Given the description of an element on the screen output the (x, y) to click on. 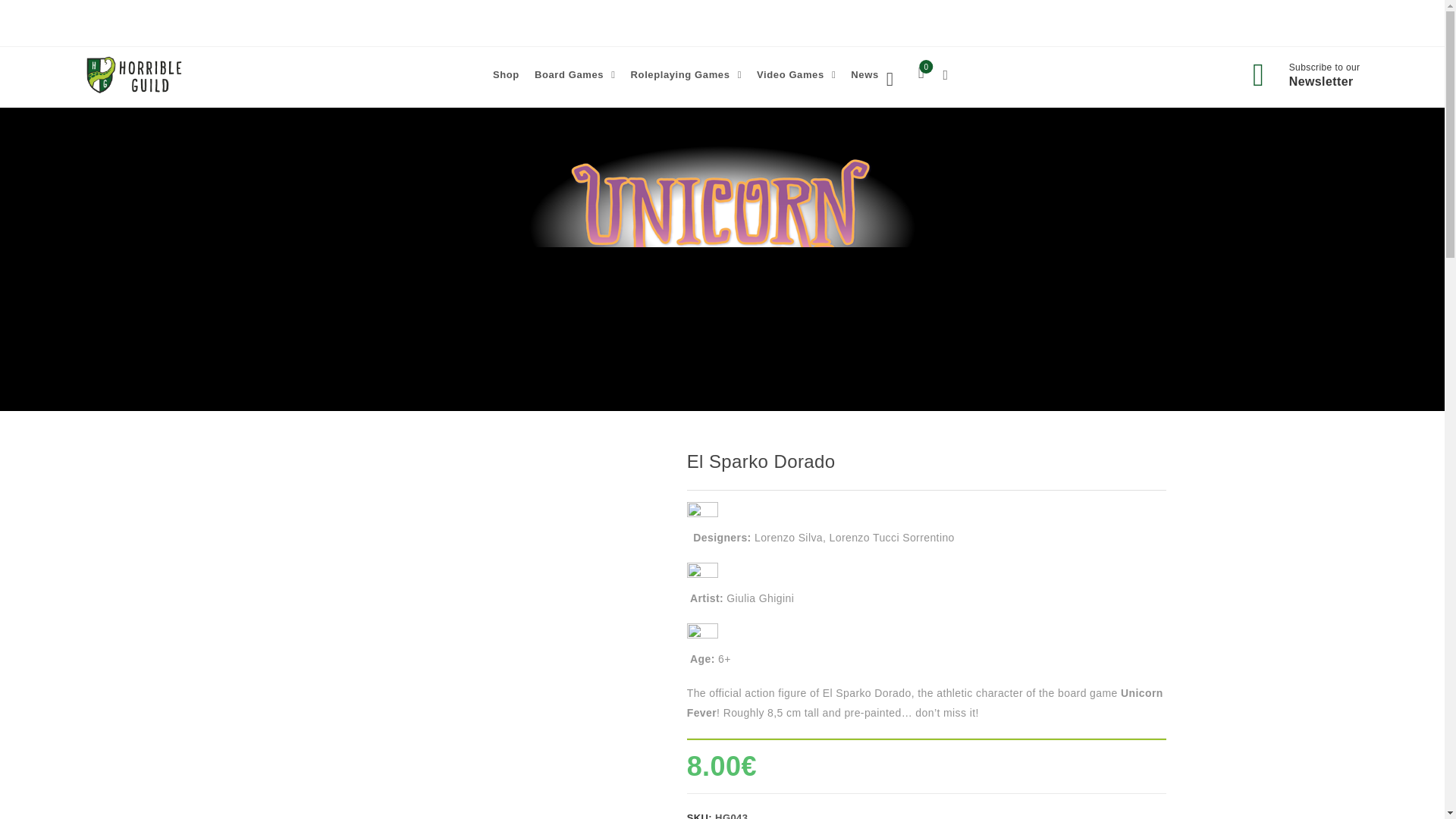
Video Games (796, 74)
Customer Care (1020, 22)
Distributors (932, 22)
Subscribe to our (1323, 67)
Newsletter (1321, 81)
My Account (1113, 22)
About Us (857, 22)
Roleplaying Games (686, 74)
This is the EU website, for US version click here (407, 22)
Board Games (575, 74)
